Given the description of an element on the screen output the (x, y) to click on. 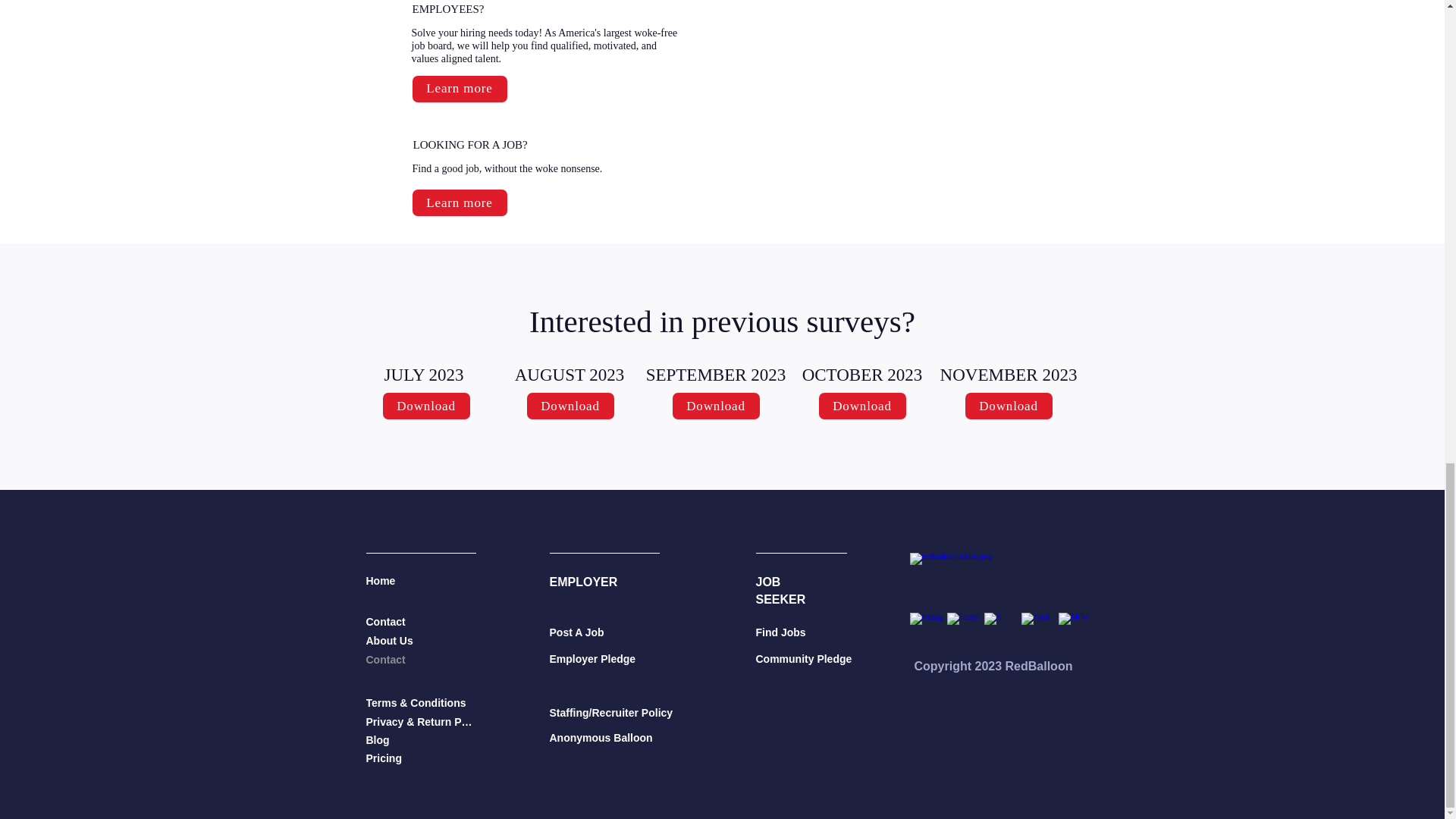
Download (424, 406)
Post A Job (611, 631)
Download (568, 406)
About Us (392, 640)
Download (861, 406)
Contact (392, 621)
Pricing (420, 758)
Learn more (459, 89)
Anonymous Balloon (611, 737)
Blog (420, 739)
